Given the description of an element on the screen output the (x, y) to click on. 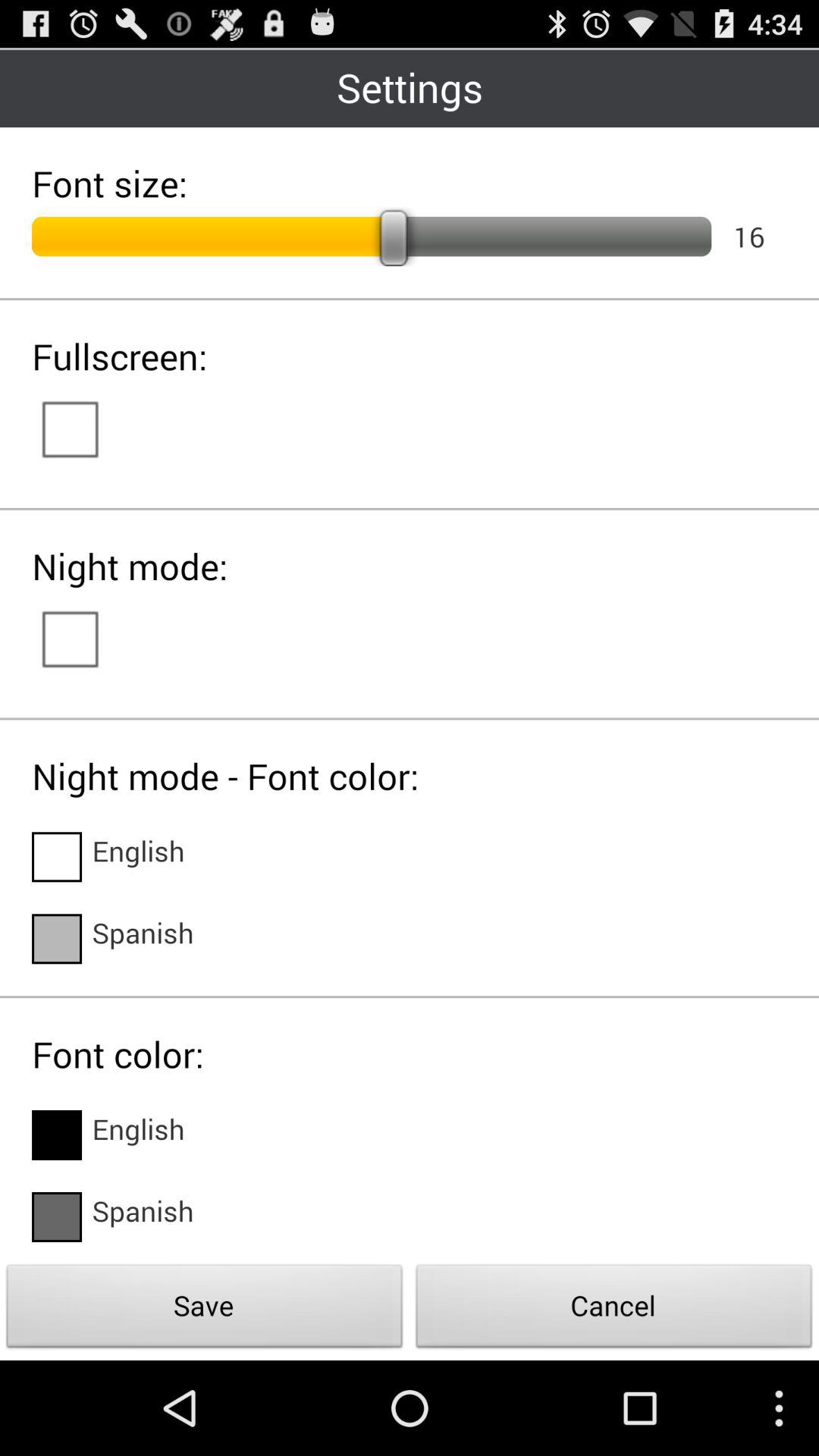
selection button (85, 637)
